Given the description of an element on the screen output the (x, y) to click on. 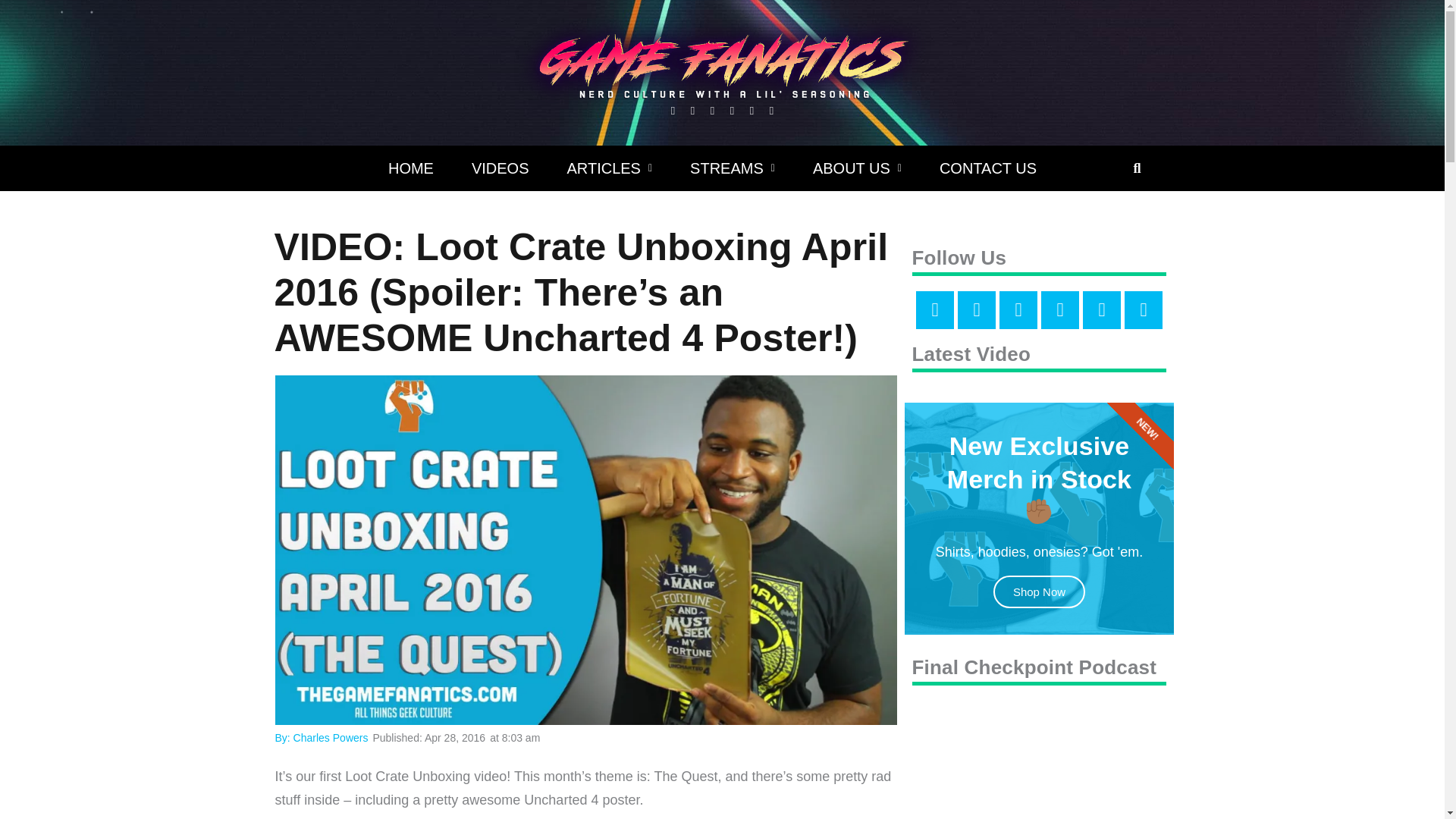
ABOUT US (856, 167)
HOME (410, 167)
CONTACT US (987, 167)
ARTICLES (609, 167)
STREAMS (732, 167)
VIDEOS (500, 167)
